Given the description of an element on the screen output the (x, y) to click on. 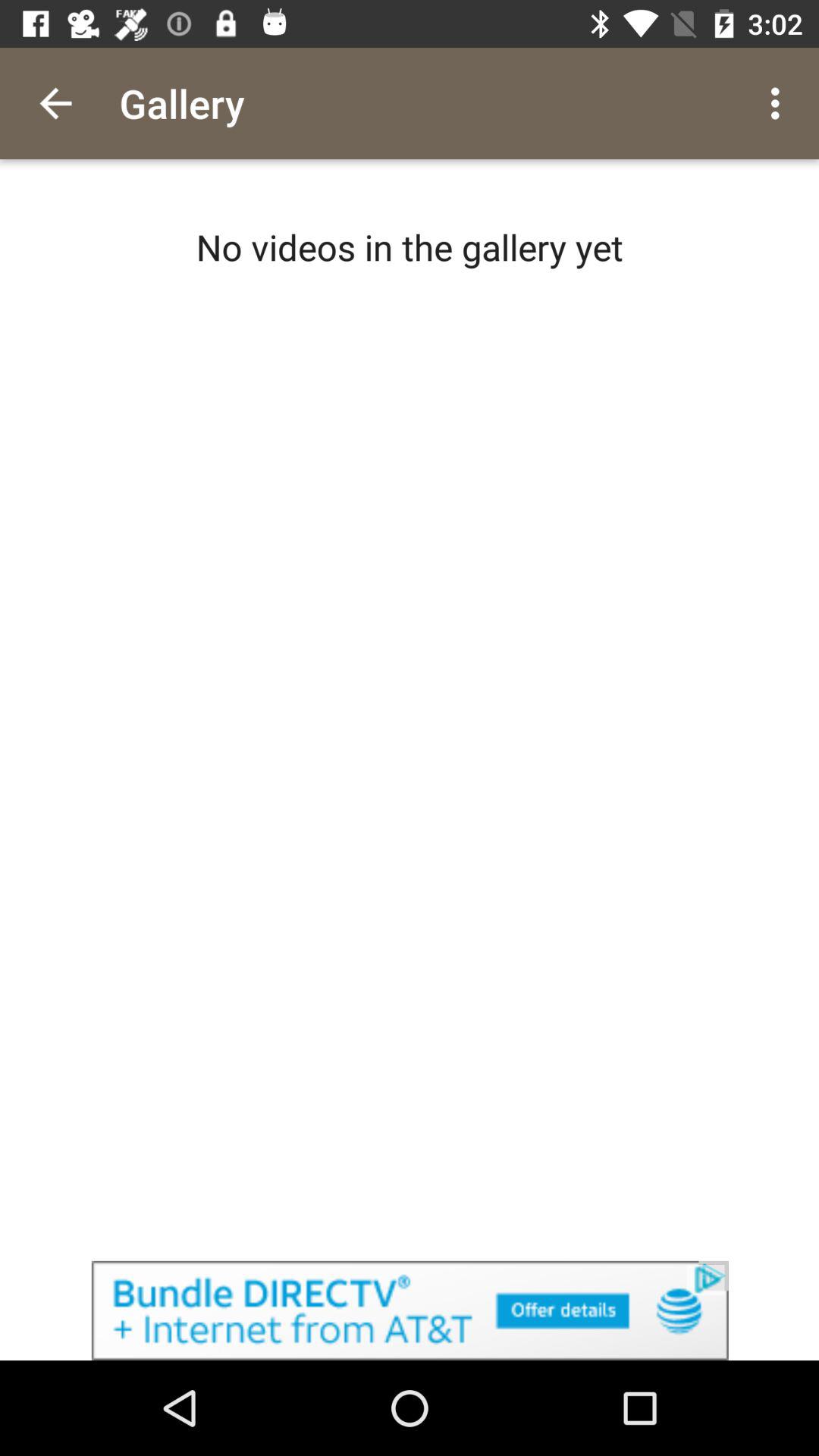
open advertisement (409, 1310)
